Given the description of an element on the screen output the (x, y) to click on. 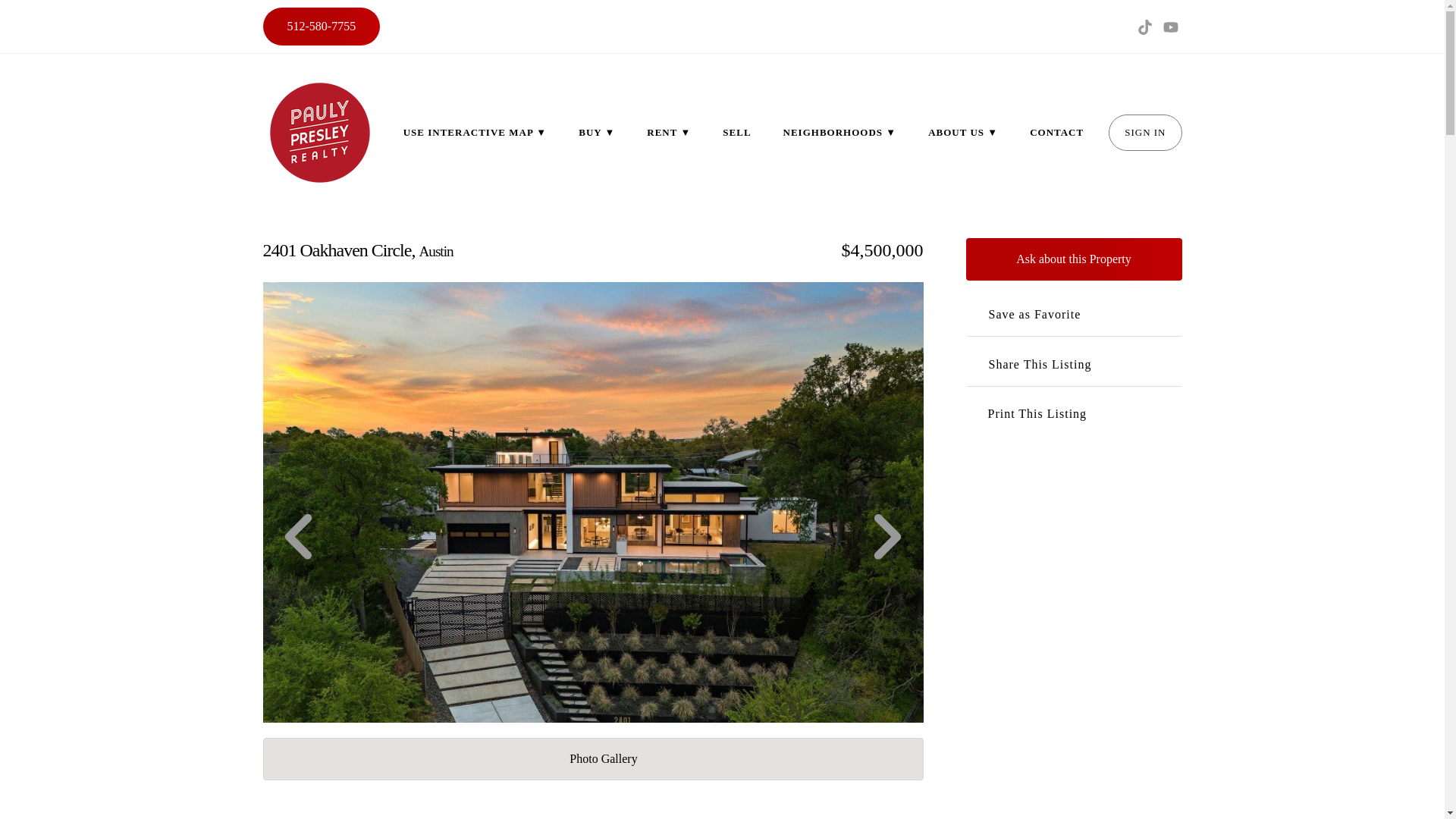
SELL (736, 132)
Site Logo (318, 132)
512-580-7755 (321, 26)
